Given the description of an element on the screen output the (x, y) to click on. 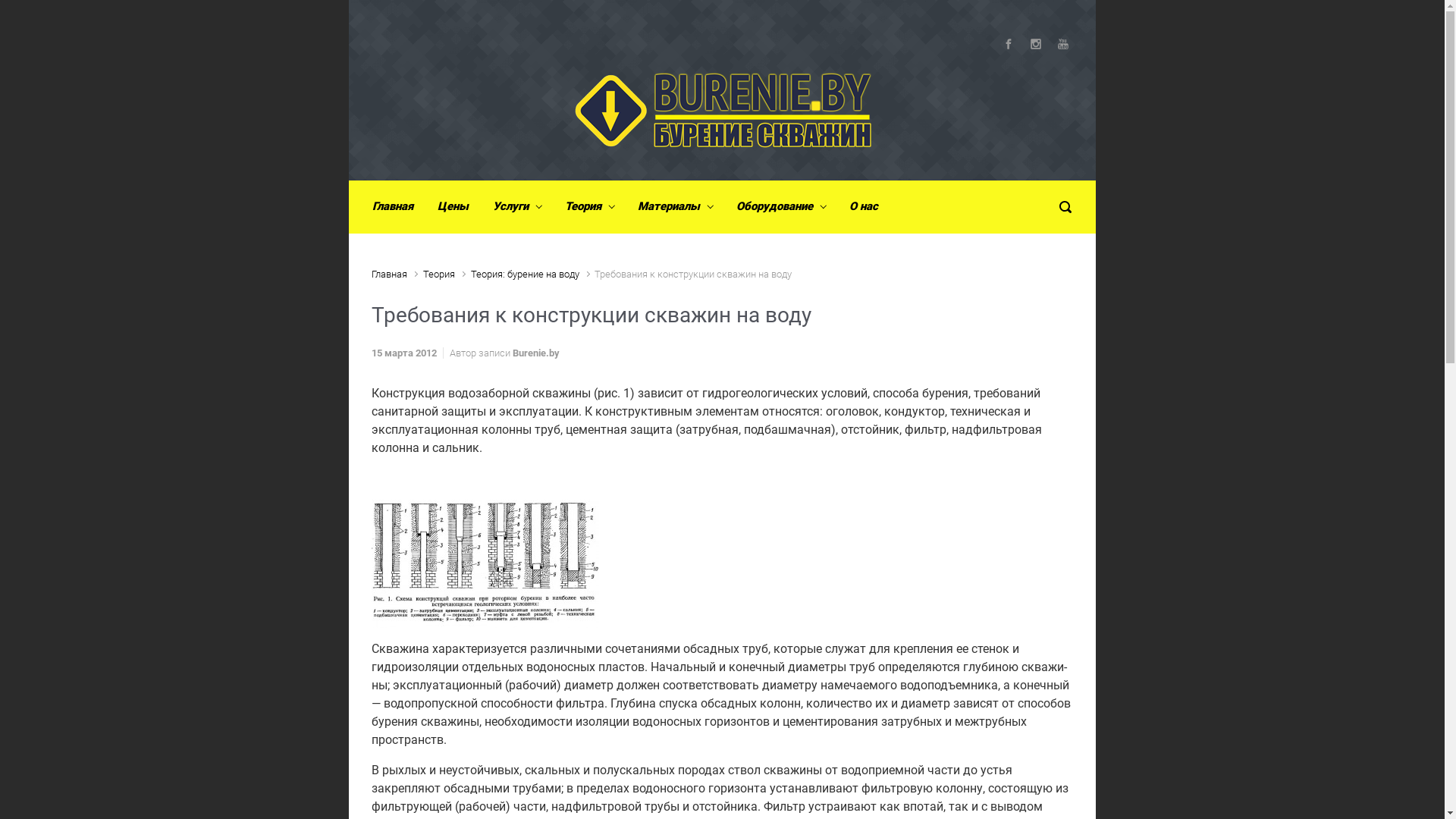
Burenie.by Element type: text (535, 352)
